Given the description of an element on the screen output the (x, y) to click on. 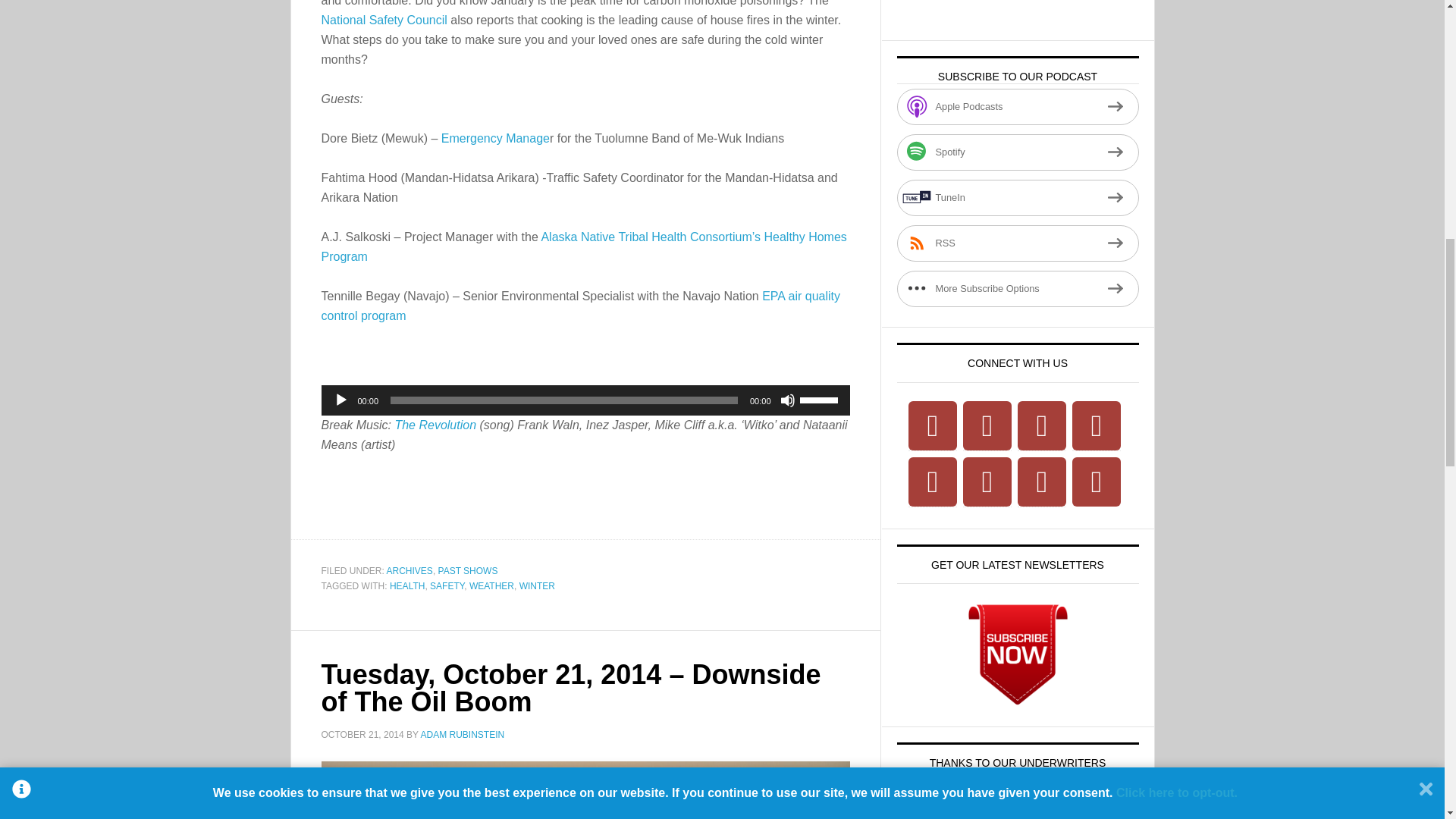
Emergency Manage (495, 137)
Subscribe on Spotify (1017, 152)
Mute (786, 400)
Subscribe on TuneIn (1017, 197)
Subscribe on Apple Podcasts (1017, 106)
EPA air quality control program (581, 305)
Subscribe via RSS (1017, 243)
Play (341, 400)
National Safety Council (383, 19)
